Given the description of an element on the screen output the (x, y) to click on. 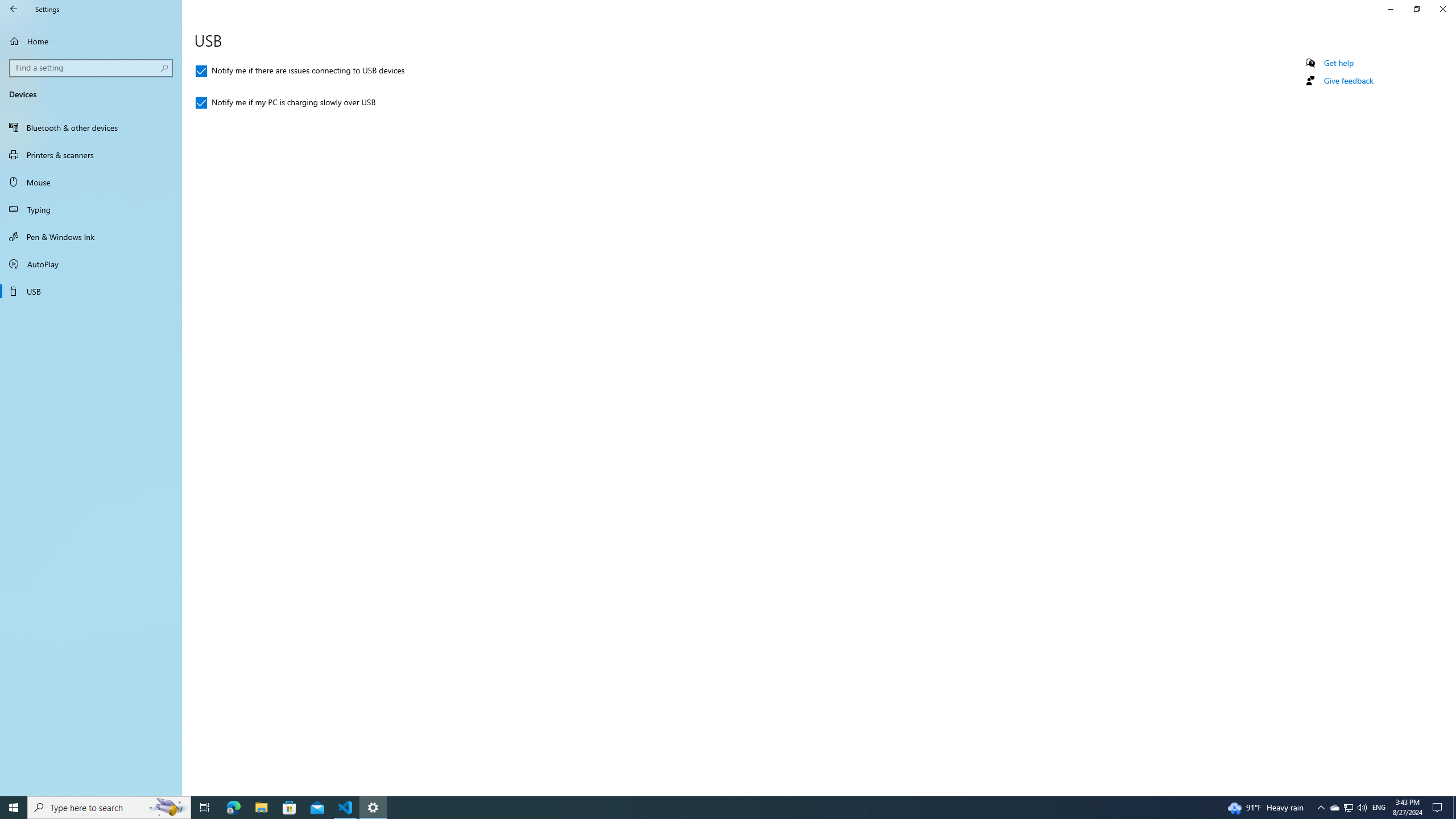
Printers & scanners (91, 154)
Bluetooth & other devices (91, 126)
Start (13, 807)
Notify me if there are issues connecting to USB devices (299, 71)
Tray Input Indicator - English (United States) (1378, 807)
Task View (1333, 807)
File Explorer (204, 807)
Notify me if my PC is charging slowly over USB (261, 807)
USB (285, 103)
Q2790: 100% (91, 290)
Give feedback (1361, 807)
